Given the description of an element on the screen output the (x, y) to click on. 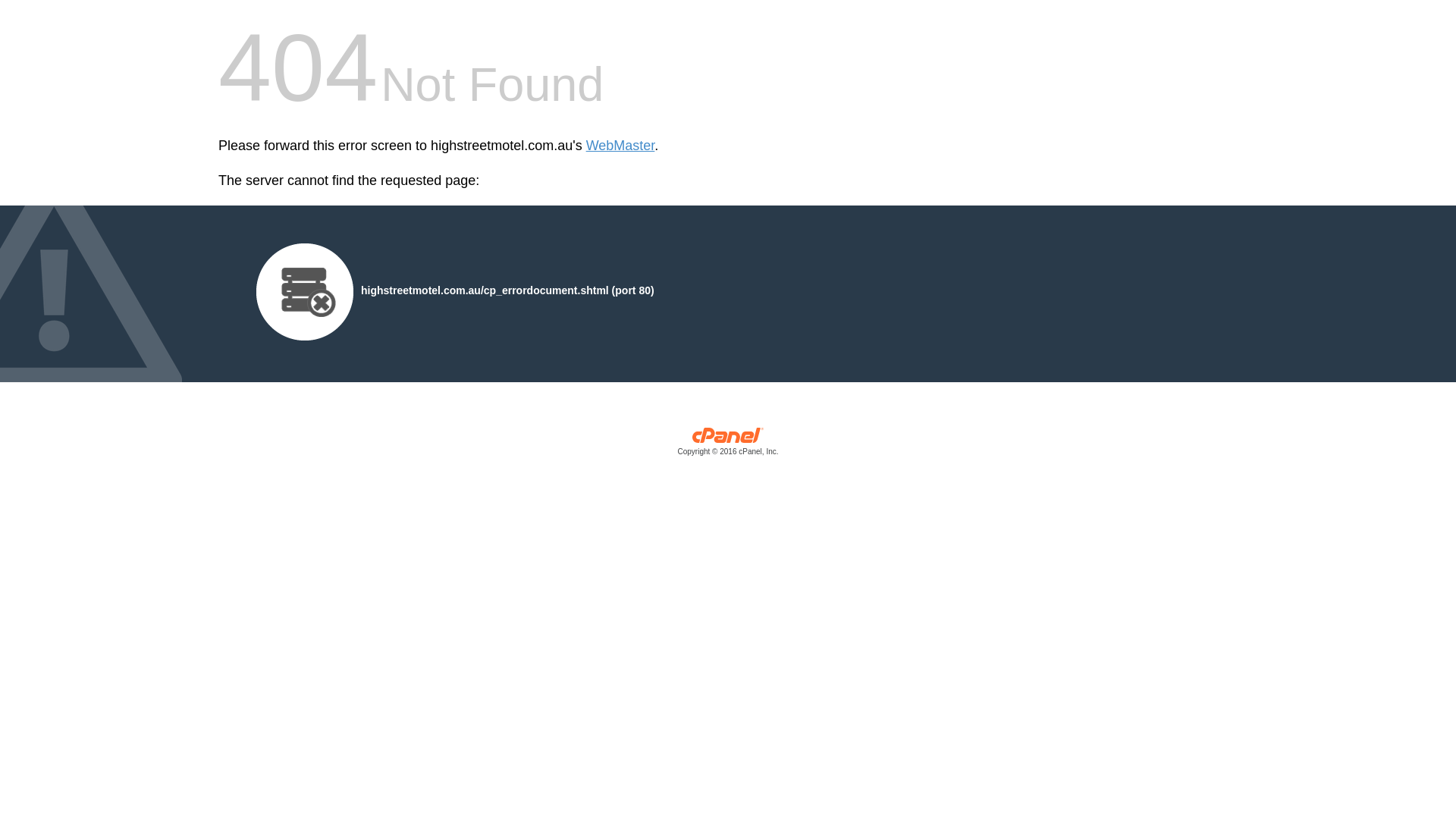
WebMaster Element type: text (620, 145)
